Given the description of an element on the screen output the (x, y) to click on. 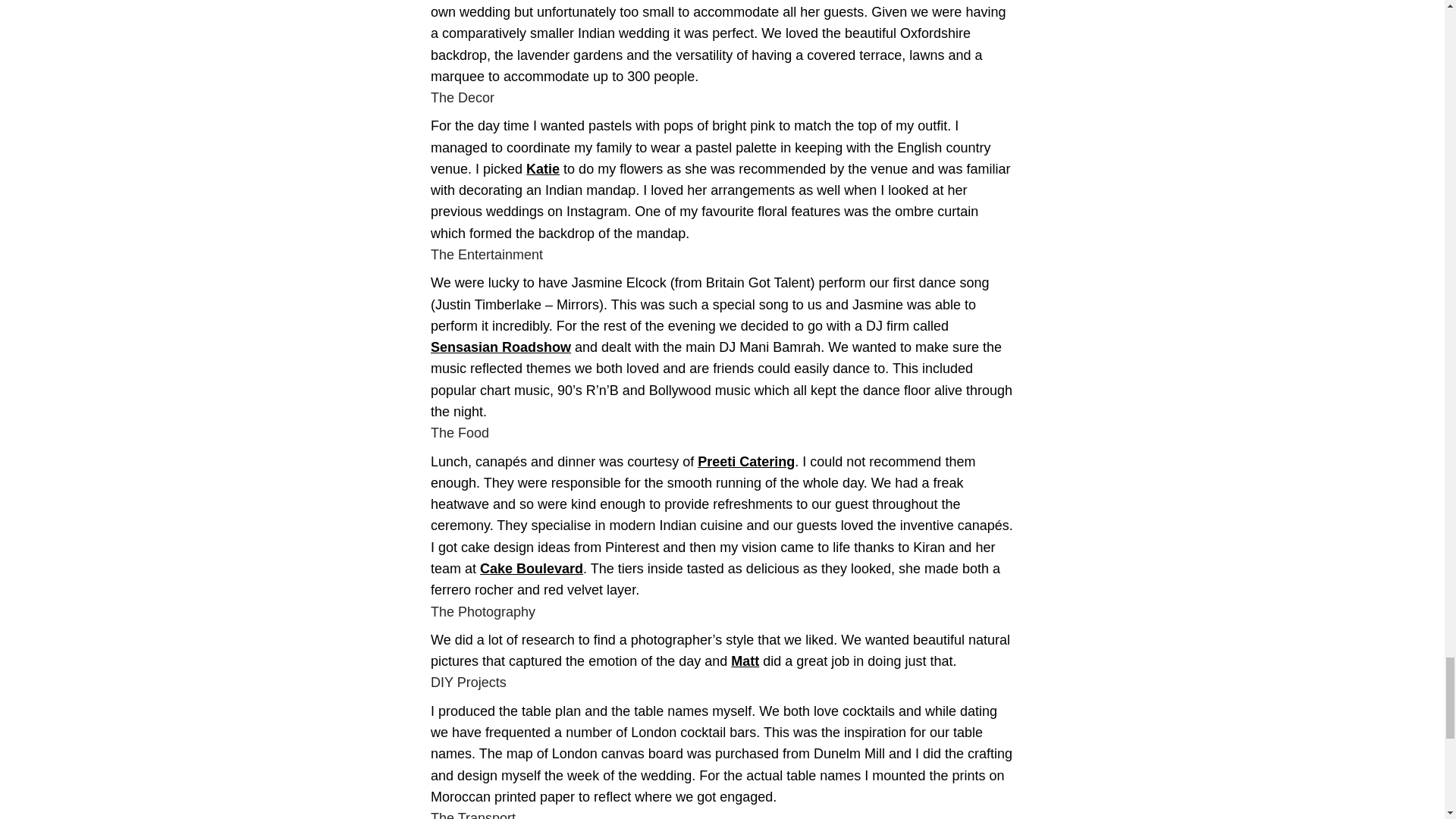
Katie (542, 168)
Cake Boulevard (531, 568)
Matt (744, 661)
Preeti Catering (745, 461)
Sensasian Roadshow (500, 346)
